Given the description of an element on the screen output the (x, y) to click on. 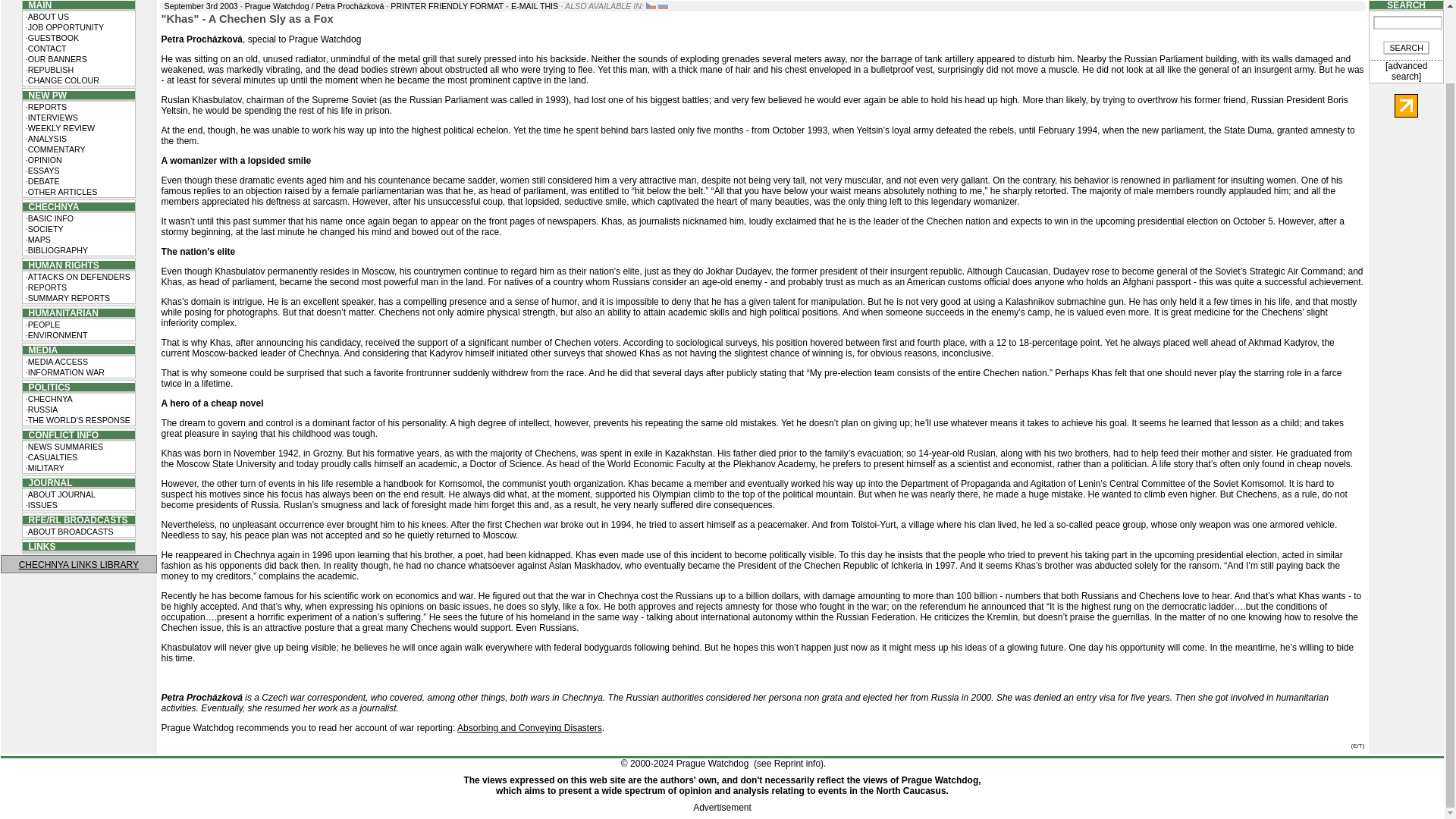
LiveInternet (1406, 105)
  HUMAN RIGHTS (61, 265)
  NEW PW (44, 95)
  HUMANITARIAN (61, 312)
SEARCH (1405, 47)
  MAIN (36, 4)
  MEDIA (40, 349)
  CHECHNYA (51, 205)
